Given the description of an element on the screen output the (x, y) to click on. 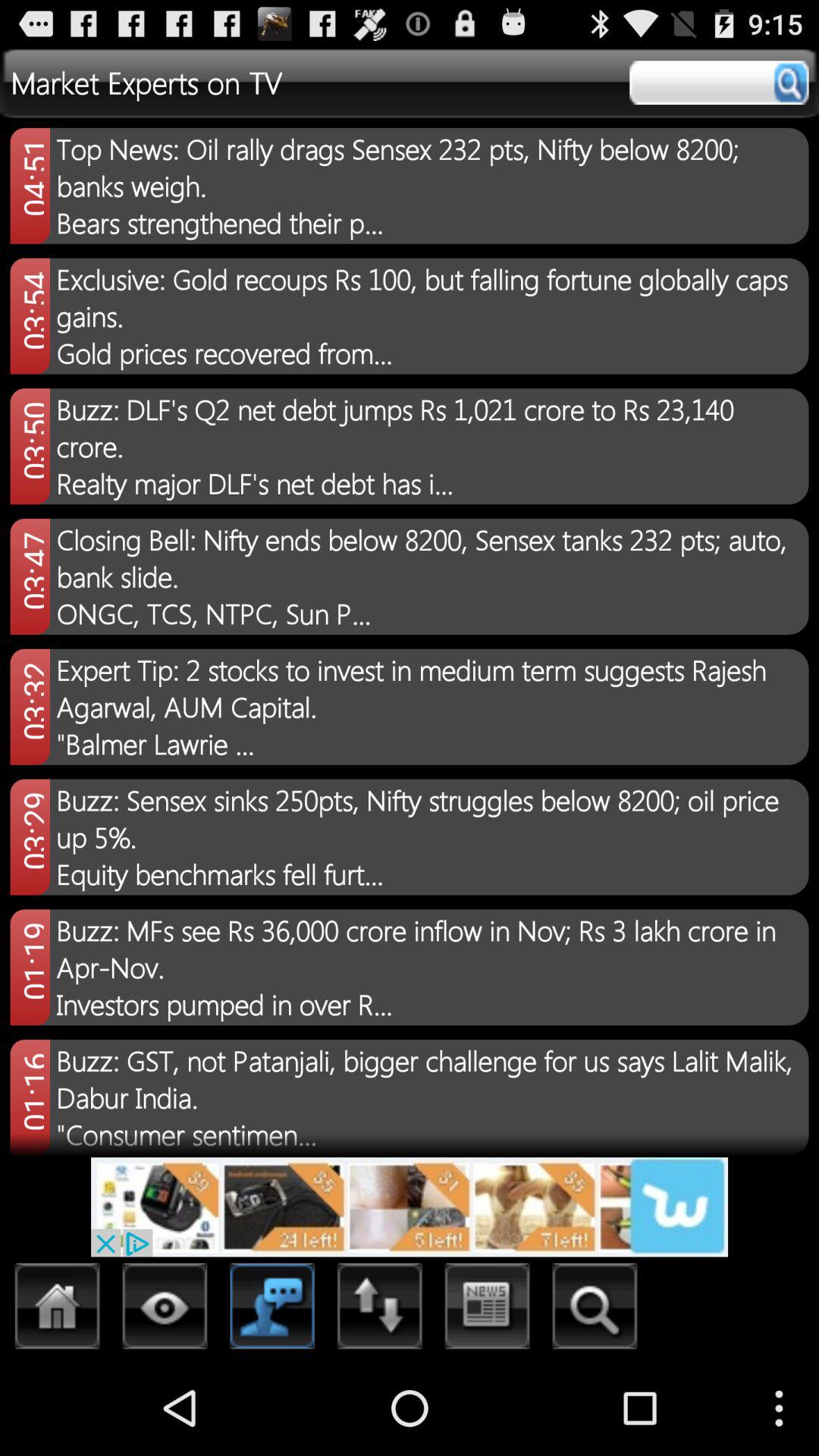
home (57, 1310)
